Given the description of an element on the screen output the (x, y) to click on. 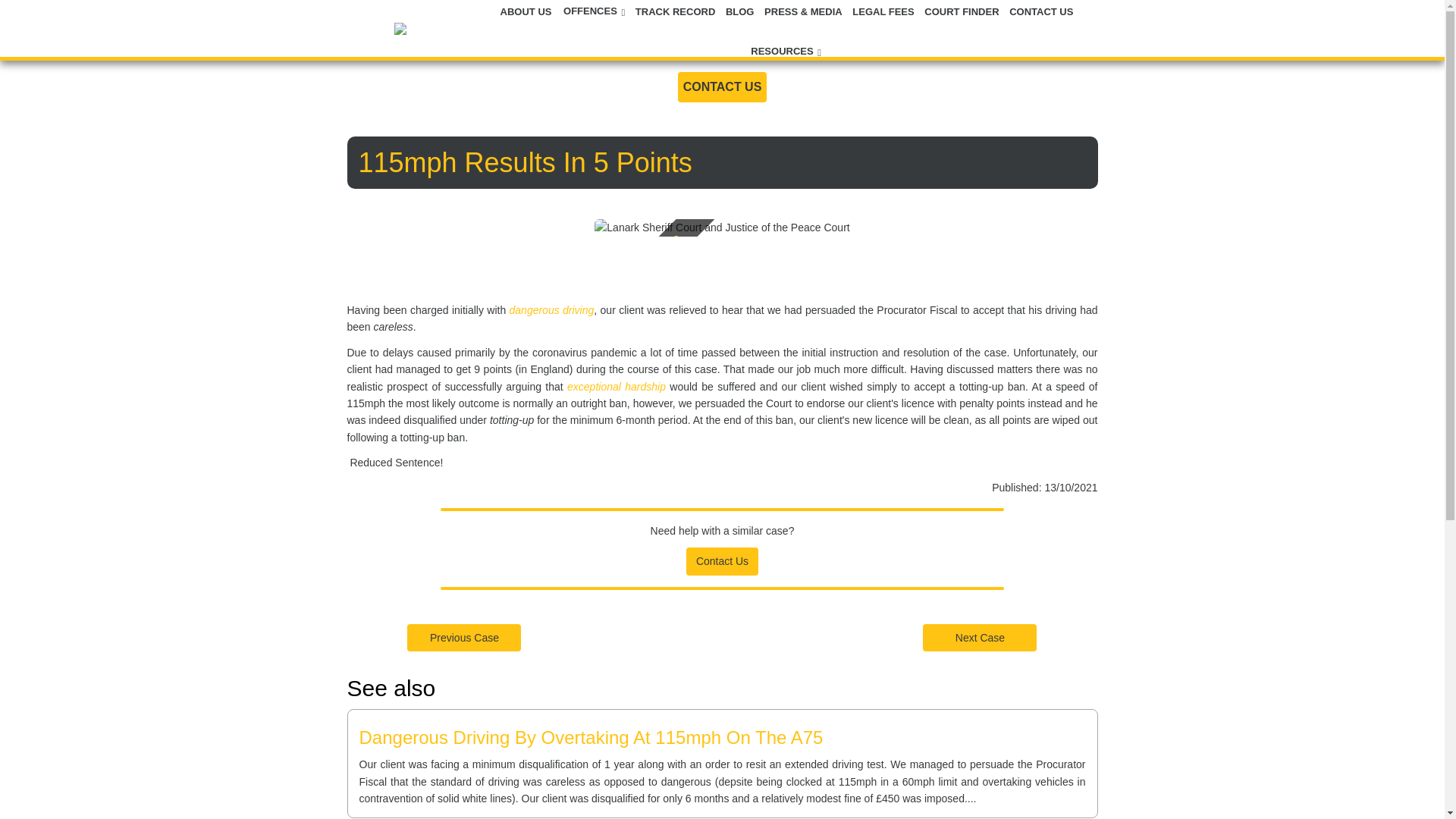
Previous Case (464, 636)
Contact Us (721, 560)
CONTACT US (722, 86)
dangerous driving (551, 309)
Dangerous Driving By Overtaking At 115mph On The A75 (591, 737)
BLOG (741, 10)
ABOUT US (527, 10)
CONTACT US (1041, 10)
LEGAL FEES (884, 10)
COURT FINDER (963, 10)
